Given the description of an element on the screen output the (x, y) to click on. 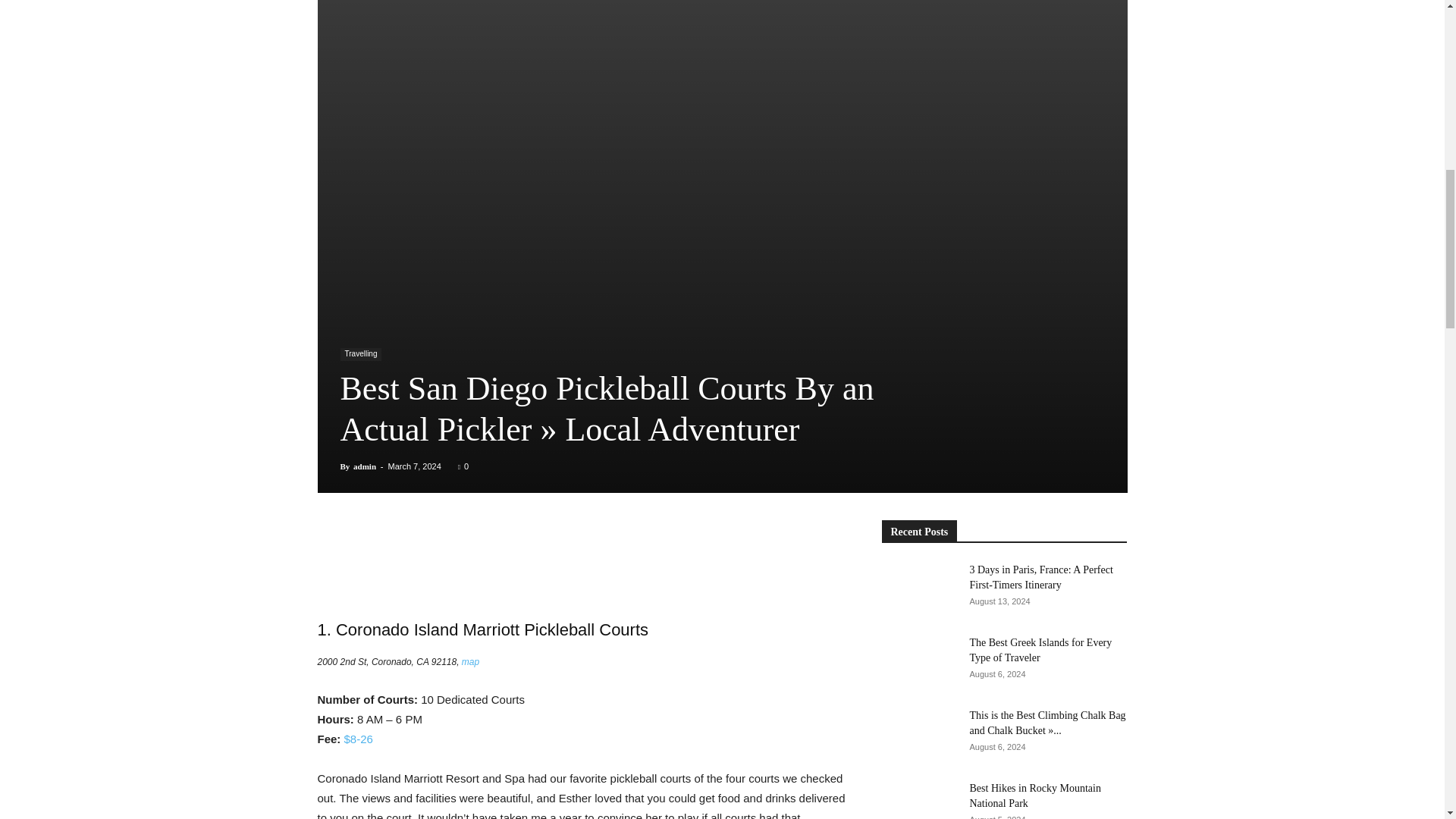
admin (364, 465)
Coronado Island Marriott Pickleball Courts (491, 629)
map (470, 661)
Travelling (360, 354)
0 (463, 465)
